Given the description of an element on the screen output the (x, y) to click on. 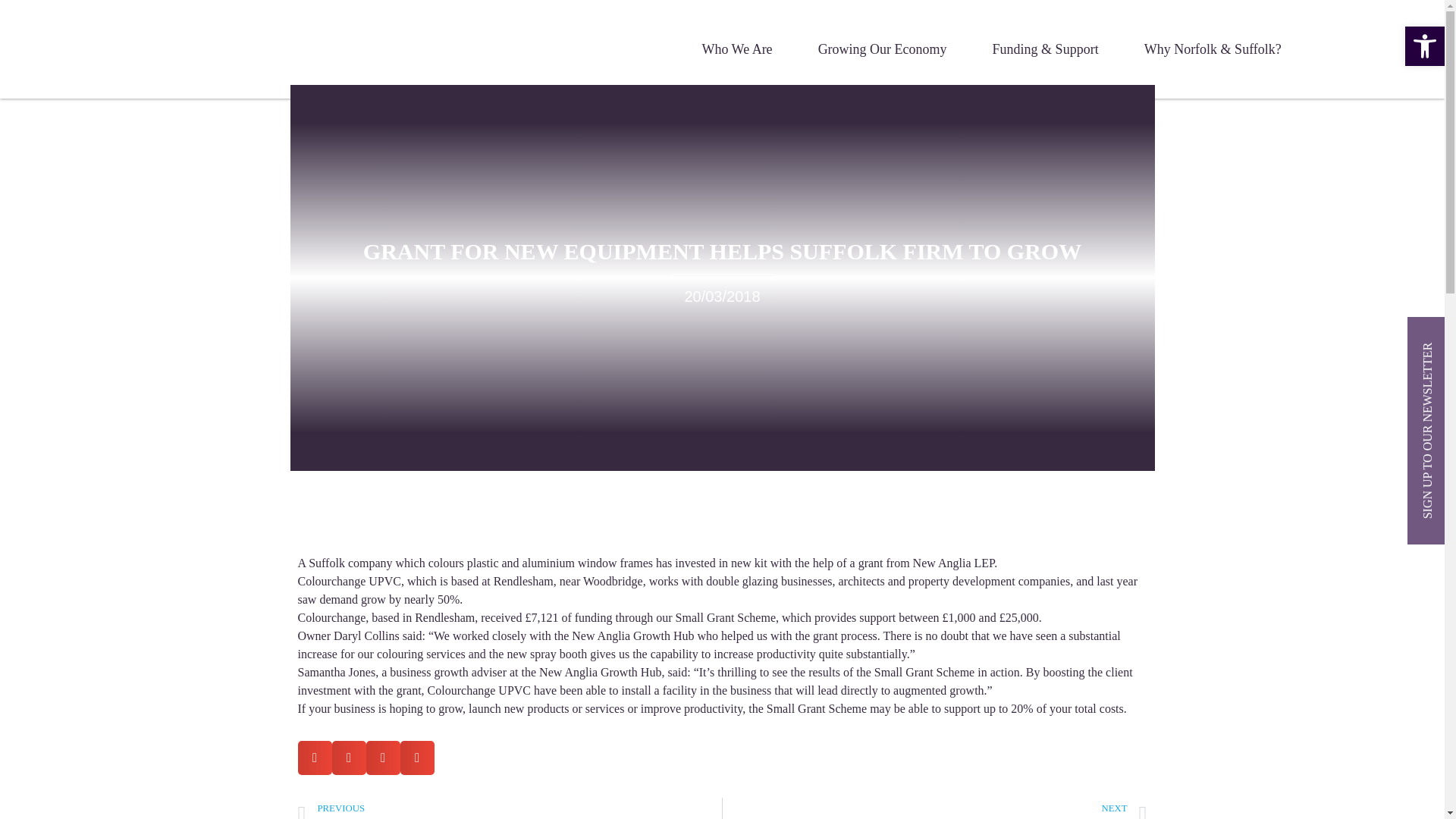
Growing Our Economy (882, 48)
Who We Are (736, 48)
Accessibility Tools (1424, 46)
